Given the description of an element on the screen output the (x, y) to click on. 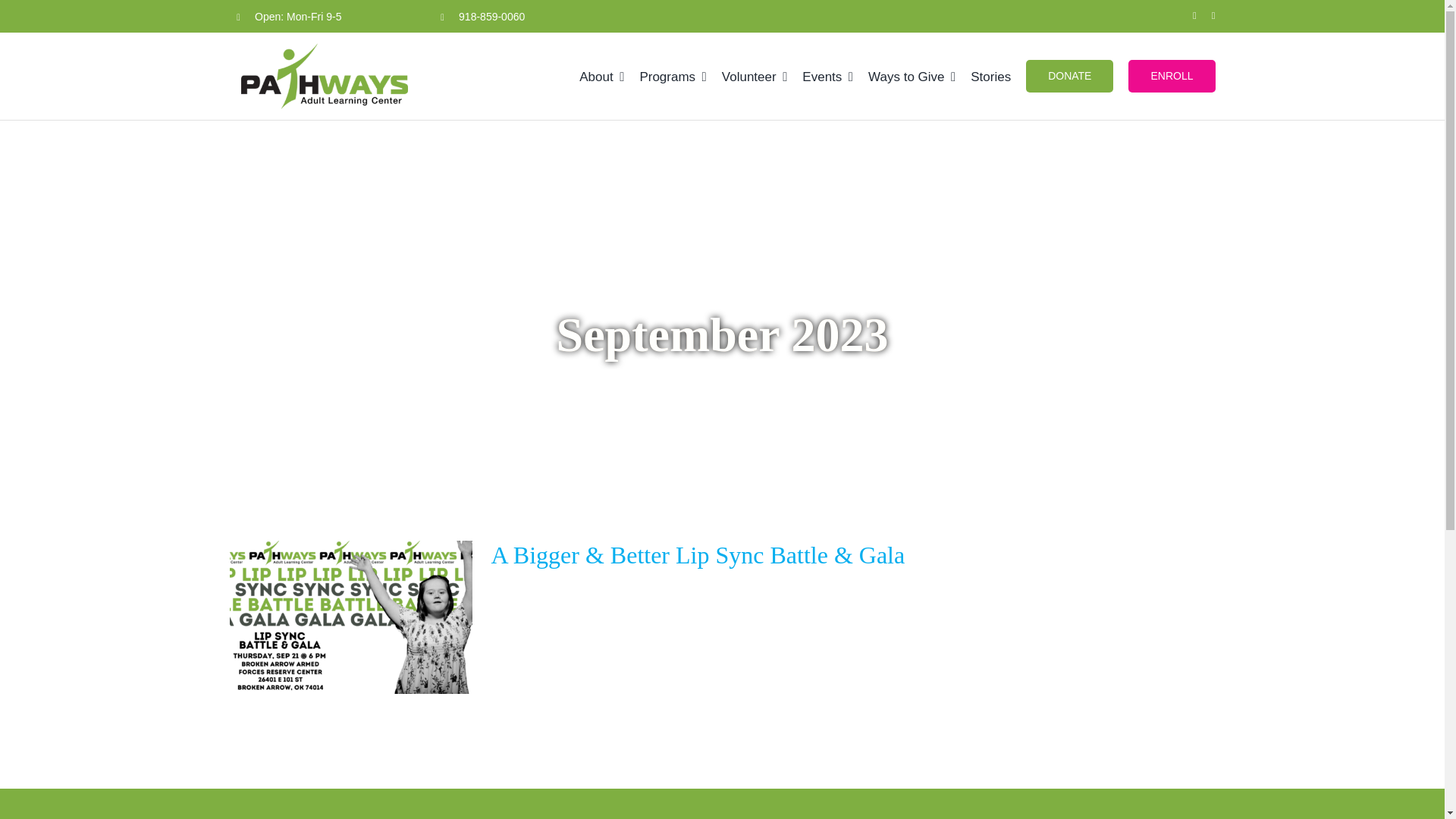
DONATE (1069, 76)
Programs (672, 76)
ENROLL (1171, 76)
Ways to Give (911, 76)
Events (827, 76)
About (601, 76)
Volunteer (754, 76)
Stories (990, 76)
